Given the description of an element on the screen output the (x, y) to click on. 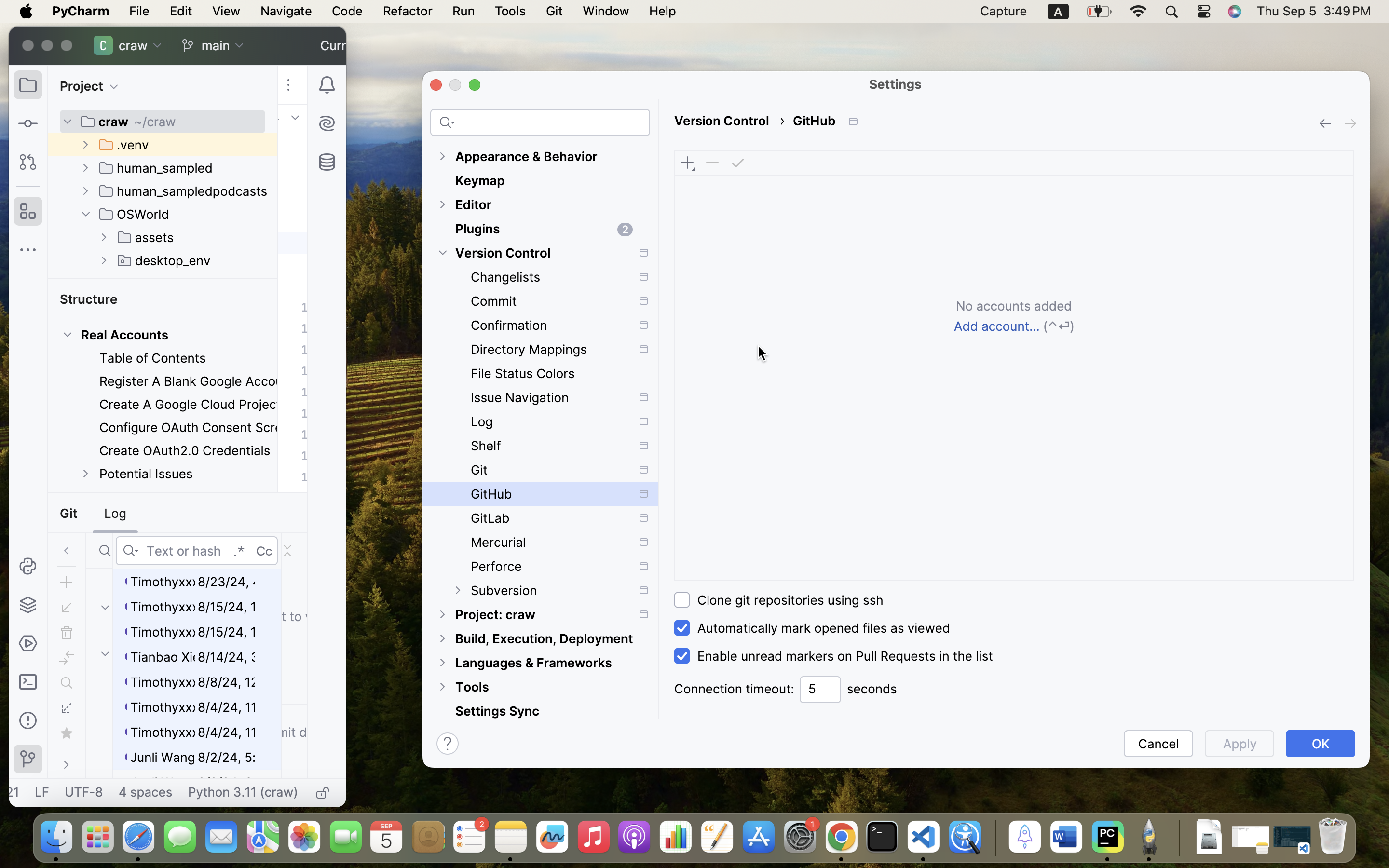
Connection timeout: Element type: AXStaticText (733, 688)
Settings Element type: AXStaticText (895, 83)
0.4285714328289032 Element type: AXDockItem (993, 837)
